Given the description of an element on the screen output the (x, y) to click on. 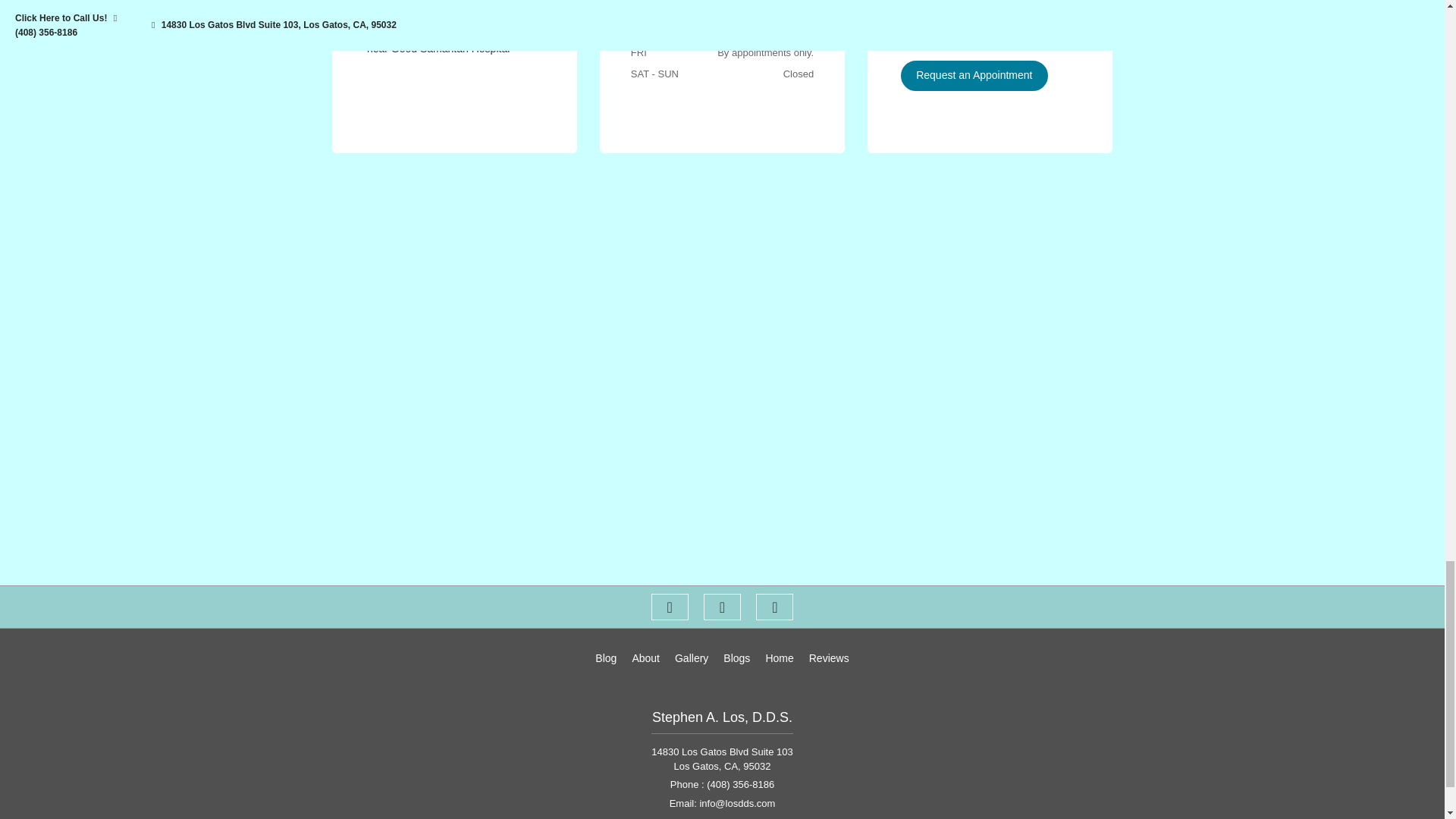
Gallery (691, 657)
About (645, 657)
Blogs (736, 657)
Home (779, 657)
Blog (605, 657)
Reviews (828, 657)
